Given the description of an element on the screen output the (x, y) to click on. 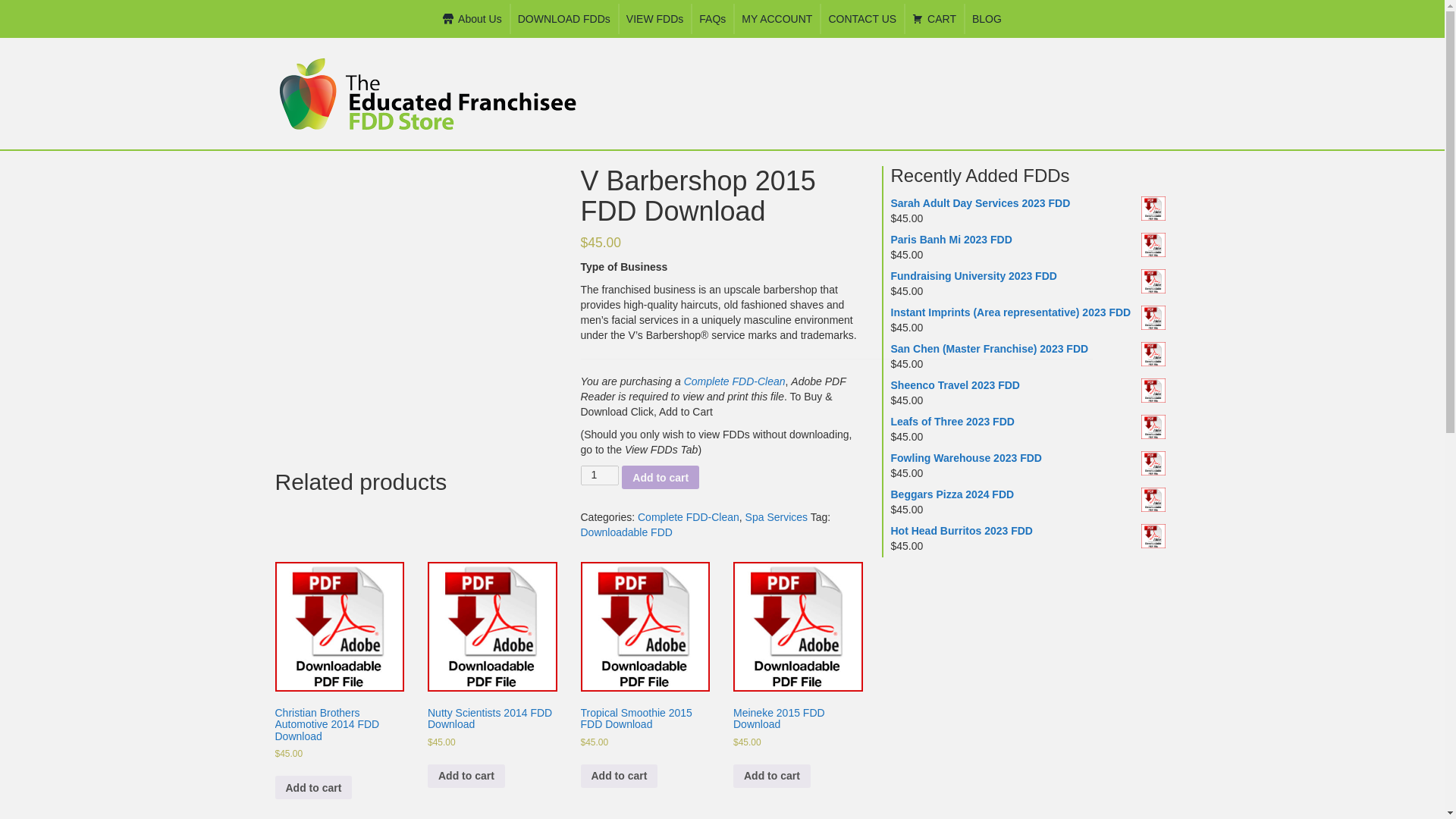
Paris Banh Mi 2023 FDD (1027, 240)
1 (600, 475)
Sheenco Travel 2023 FDD (1027, 385)
Complete FDD-Clean (735, 381)
CONTACT US (862, 19)
Add to cart (313, 787)
CART (933, 19)
MY ACCOUNT (776, 19)
Fowling Warehouse 2023 FDD (1027, 458)
DOWNLOAD FDDs (564, 19)
